Given the description of an element on the screen output the (x, y) to click on. 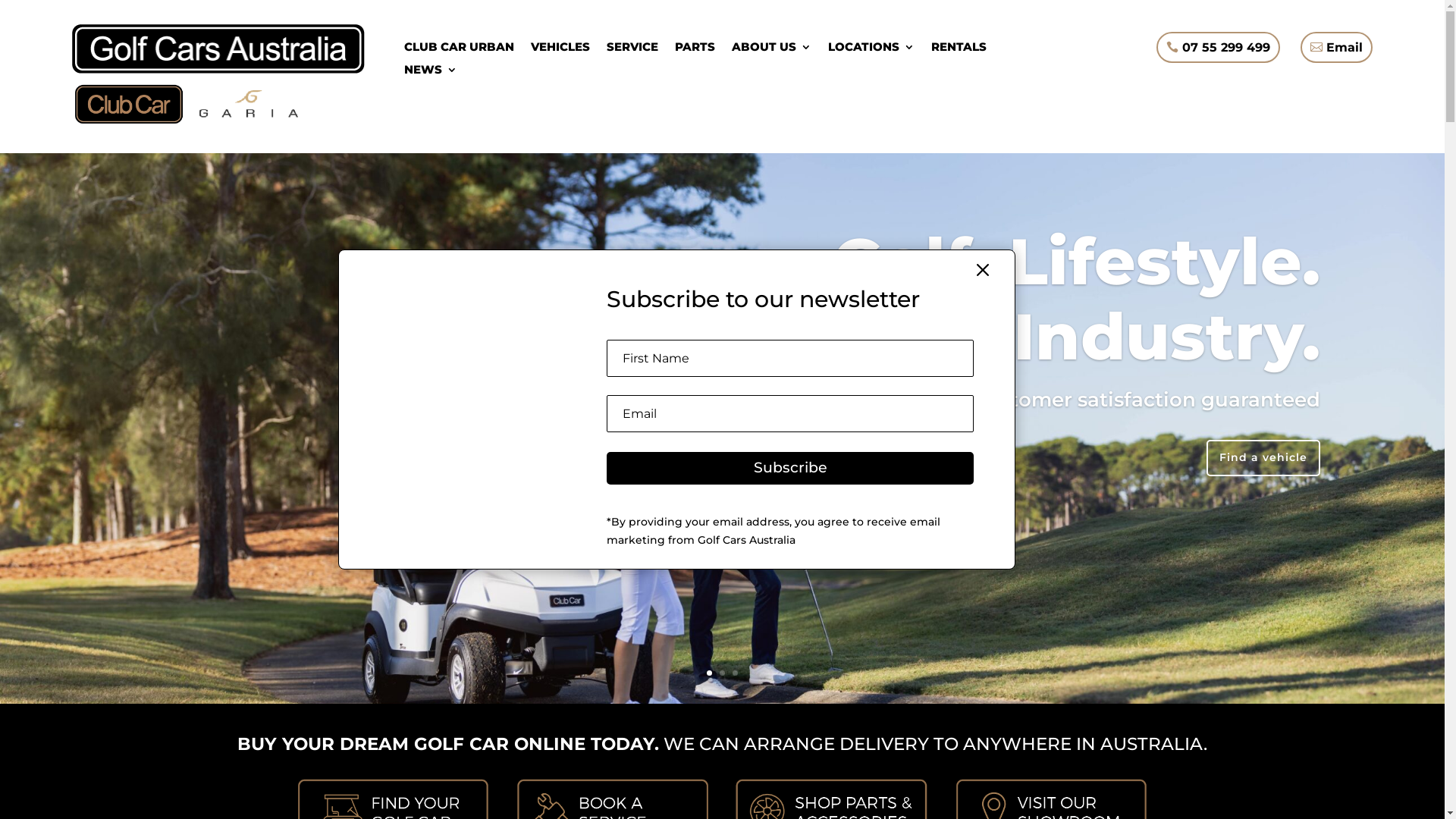
1 Element type: text (709, 672)
VEHICLES Element type: text (559, 49)
CLUB CAR URBAN Element type: text (459, 49)
GCA and Club Car Logo Element type: hover (188, 103)
ABOUT US Element type: text (771, 49)
Find a vehicle Element type: text (1263, 457)
2 Element type: text (721, 672)
NEWS Element type: text (430, 72)
Logo Element type: hover (218, 48)
PARTS Element type: text (694, 49)
07 55 299 499 Element type: text (1218, 46)
Email Element type: text (1336, 46)
SERVICE Element type: text (632, 49)
3 Element type: text (734, 672)
Golf. Lifestyle. Element type: text (1076, 261)
LOCATIONS Element type: text (871, 49)
RENTALS Element type: text (958, 49)
